Given the description of an element on the screen output the (x, y) to click on. 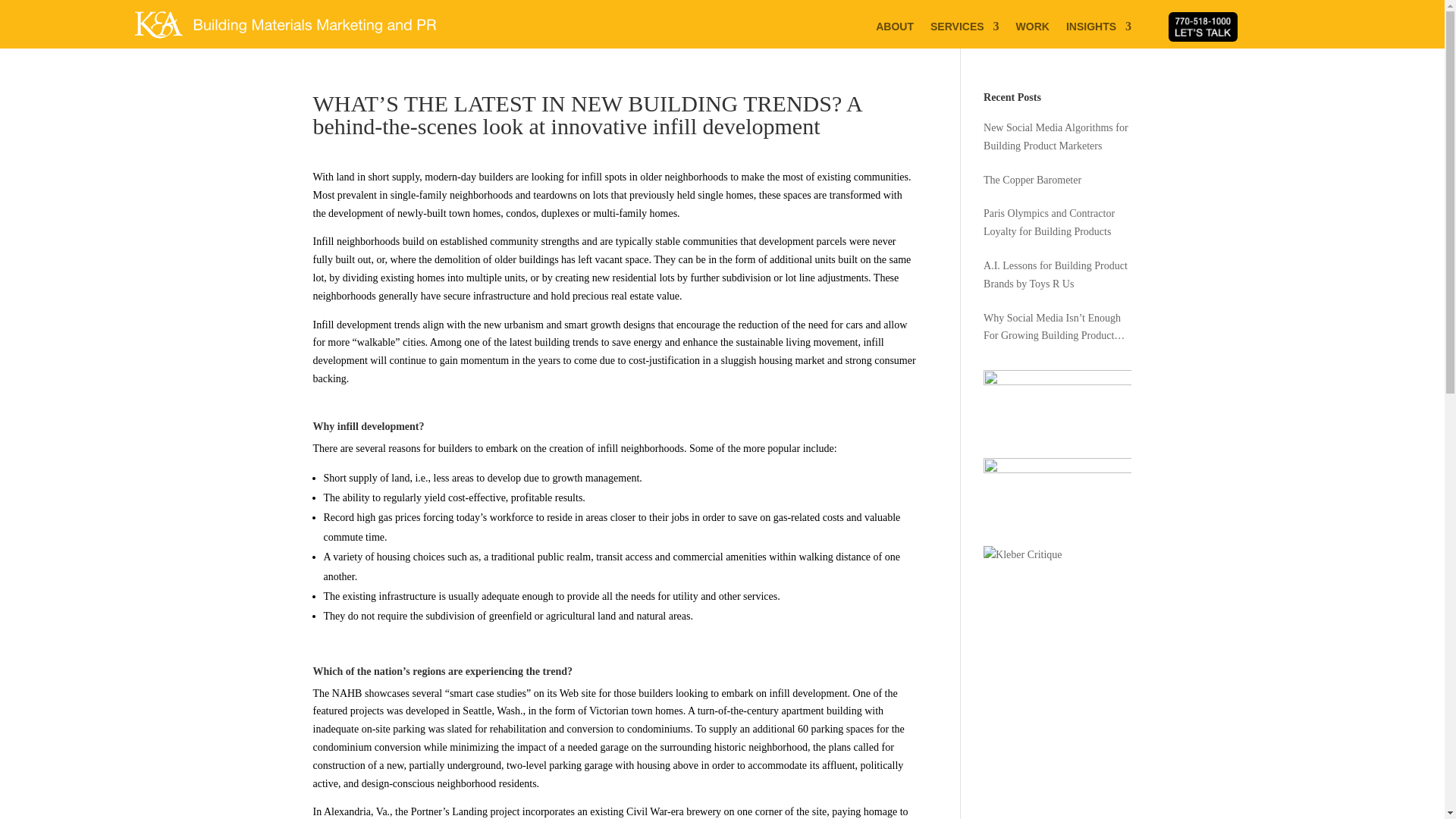
WORK (1032, 29)
SERVICES (964, 29)
kalogo (285, 24)
INSIGHTS (1098, 29)
ABOUT (895, 29)
